Given the description of an element on the screen output the (x, y) to click on. 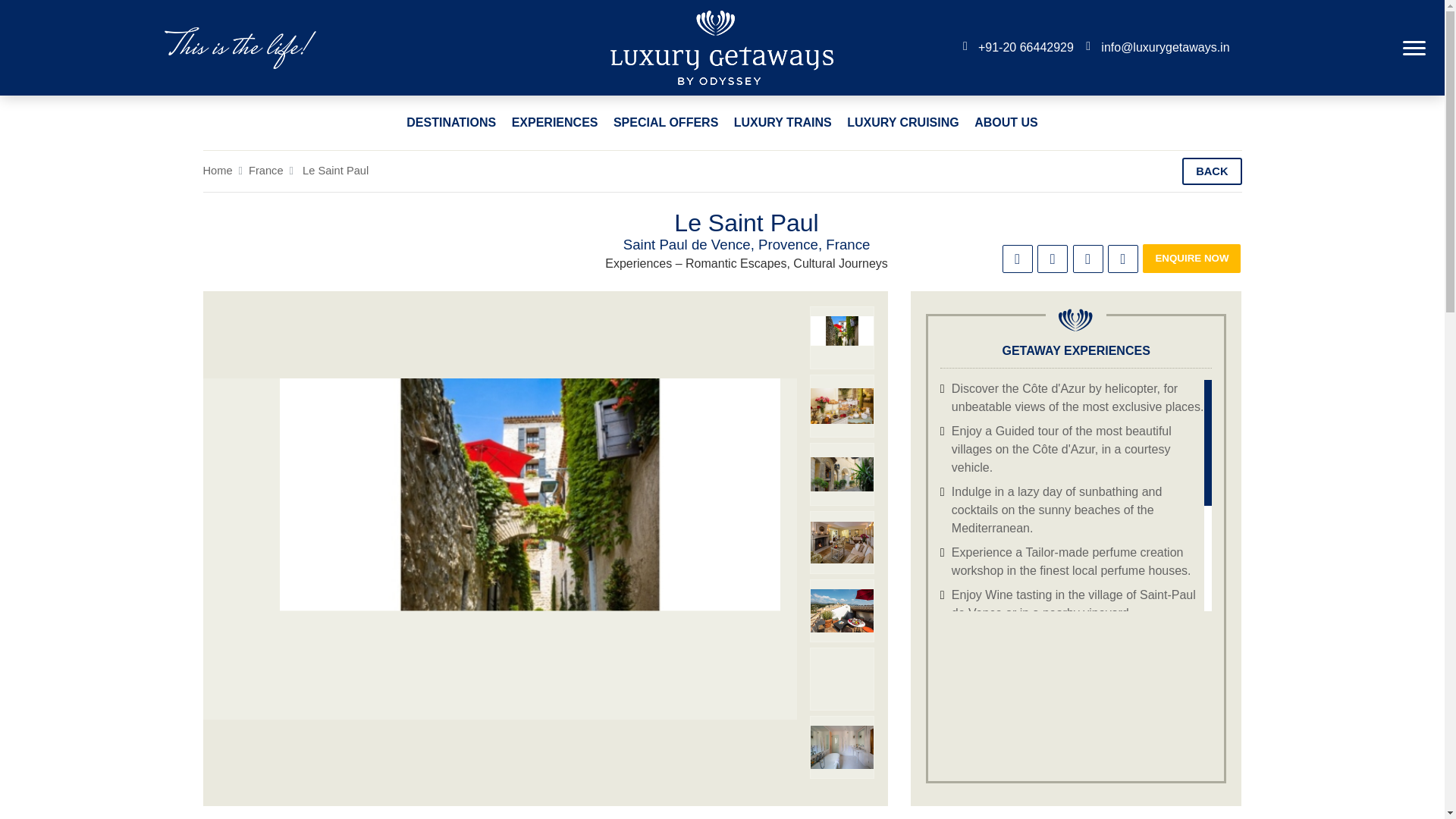
Lounge (841, 542)
This is the life (239, 47)
Entrance (841, 337)
Suite Terrace (841, 610)
Hotel Exterior (841, 474)
Bathroom (841, 747)
Le Saint Paul restaurant (841, 679)
Breakfast at the hotel (841, 406)
